Given the description of an element on the screen output the (x, y) to click on. 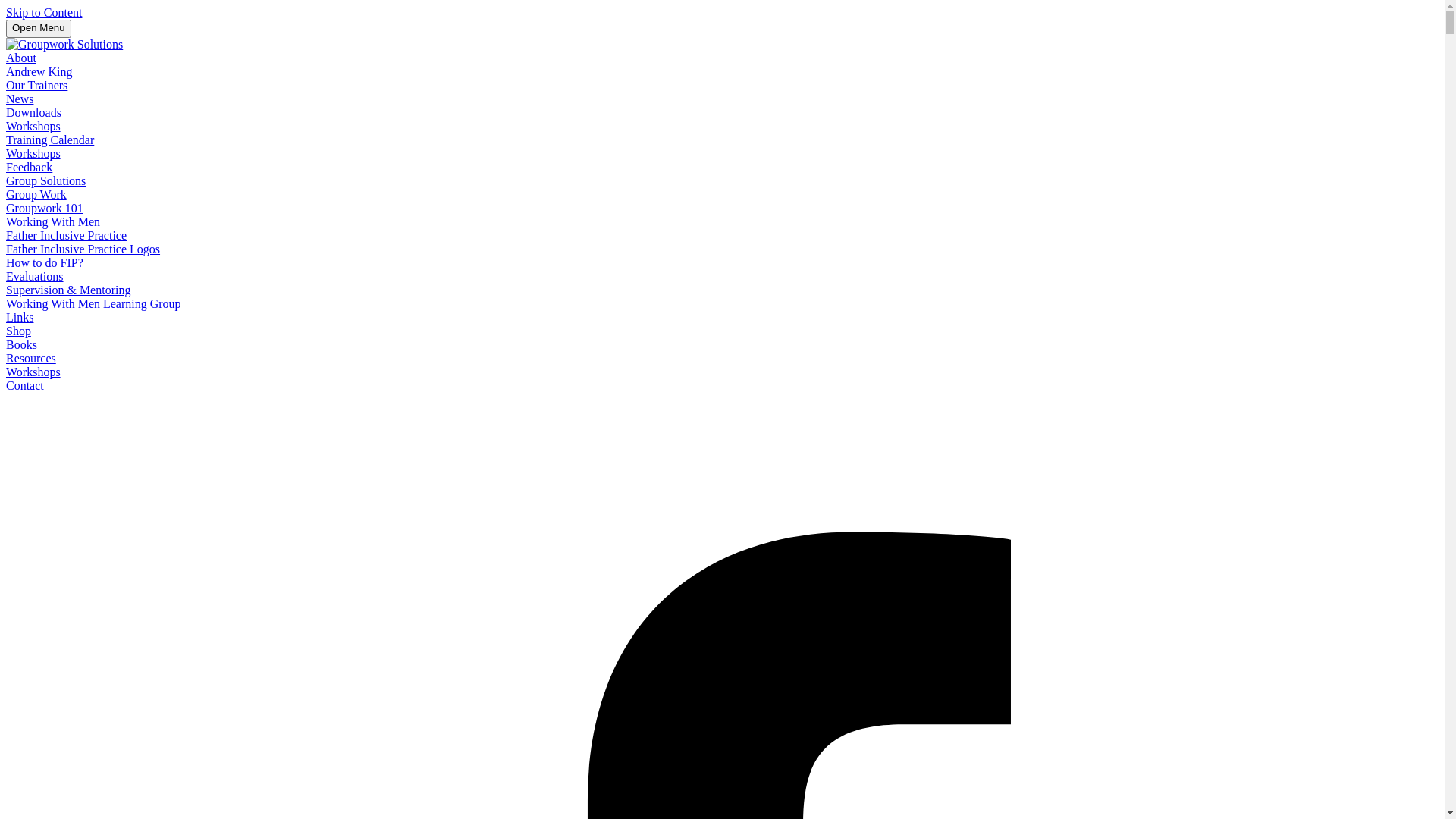
Workshops Element type: text (33, 125)
Downloads Element type: text (33, 112)
Father Inclusive Practice Logos Element type: text (83, 248)
Supervision & Mentoring Element type: text (68, 289)
Group Solutions Element type: text (45, 180)
Father Inclusive Practice Element type: text (66, 235)
Skip to Content Element type: text (43, 12)
Open Menu Element type: text (38, 28)
Books Element type: text (21, 344)
Workshops Element type: text (33, 153)
About Element type: text (21, 57)
Resources Element type: text (31, 357)
Andrew King Element type: text (39, 71)
How to do FIP? Element type: text (44, 262)
Our Trainers Element type: text (36, 84)
Evaluations Element type: text (34, 275)
Contact Element type: text (24, 385)
Working With Men Learning Group Element type: text (93, 303)
Groupwork 101 Element type: text (44, 207)
Training Calendar Element type: text (50, 139)
News Element type: text (19, 98)
Feedback Element type: text (29, 166)
Working With Men Element type: text (53, 221)
Workshops Element type: text (33, 371)
Shop Element type: text (18, 330)
Group Work Element type: text (36, 194)
Links Element type: text (19, 316)
